Given the description of an element on the screen output the (x, y) to click on. 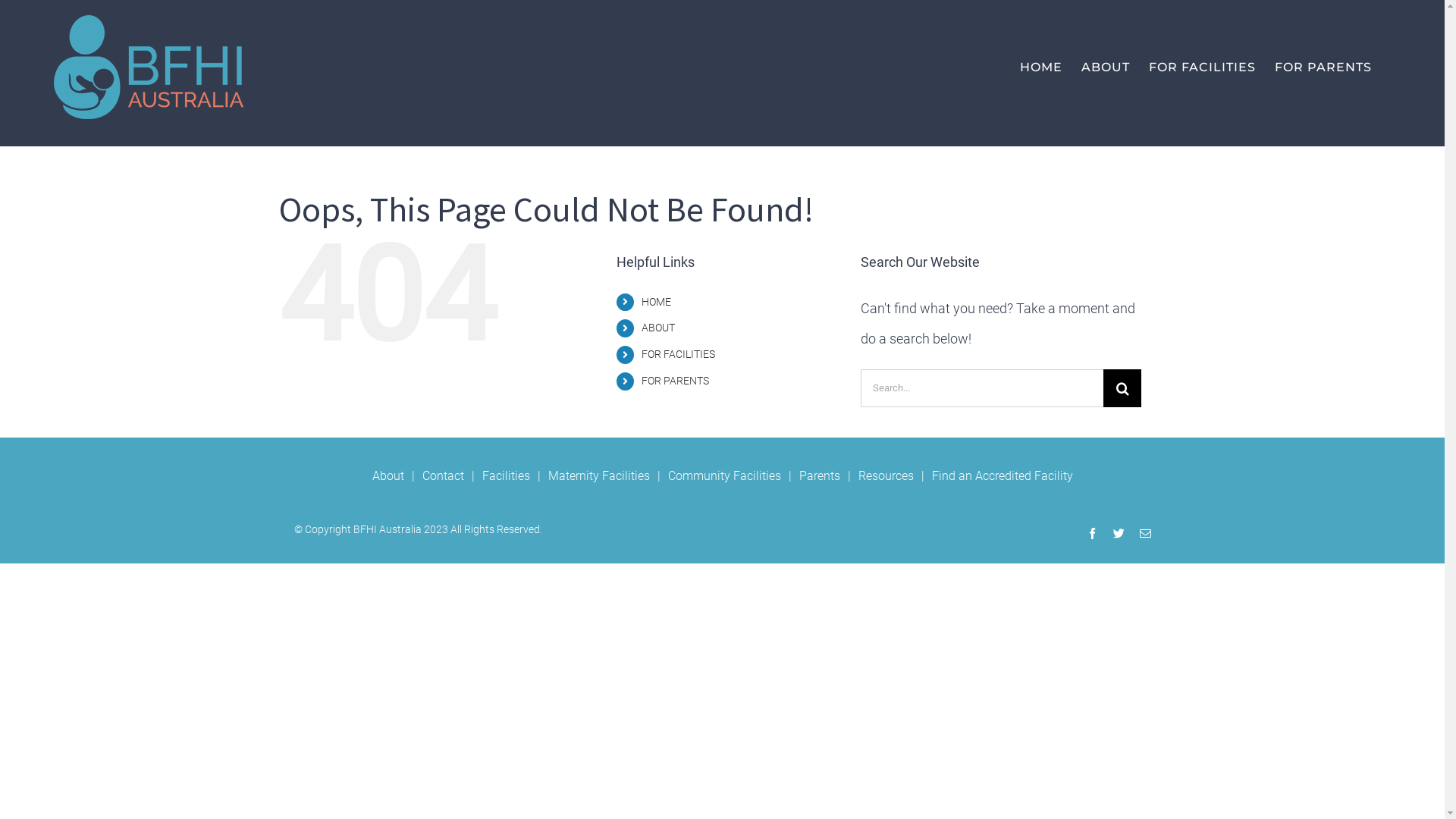
FOR PARENTS Element type: text (675, 380)
Resources Element type: text (894, 476)
FOR FACILITIES Element type: text (678, 354)
Facebook Element type: text (1091, 533)
Parents Element type: text (828, 476)
Twitter Element type: text (1118, 533)
ABOUT Element type: text (1105, 67)
FOR FACILITIES Element type: text (1201, 67)
Community Facilities Element type: text (732, 476)
HOME Element type: text (656, 301)
Contact Element type: text (451, 476)
Find an Accredited Facility Element type: text (1001, 476)
Facilities Element type: text (515, 476)
FOR PARENTS Element type: text (1322, 67)
HOME Element type: text (1040, 67)
Maternity Facilities Element type: text (607, 476)
Email Element type: text (1144, 533)
ABOUT Element type: text (657, 327)
About Element type: text (396, 476)
